Given the description of an element on the screen output the (x, y) to click on. 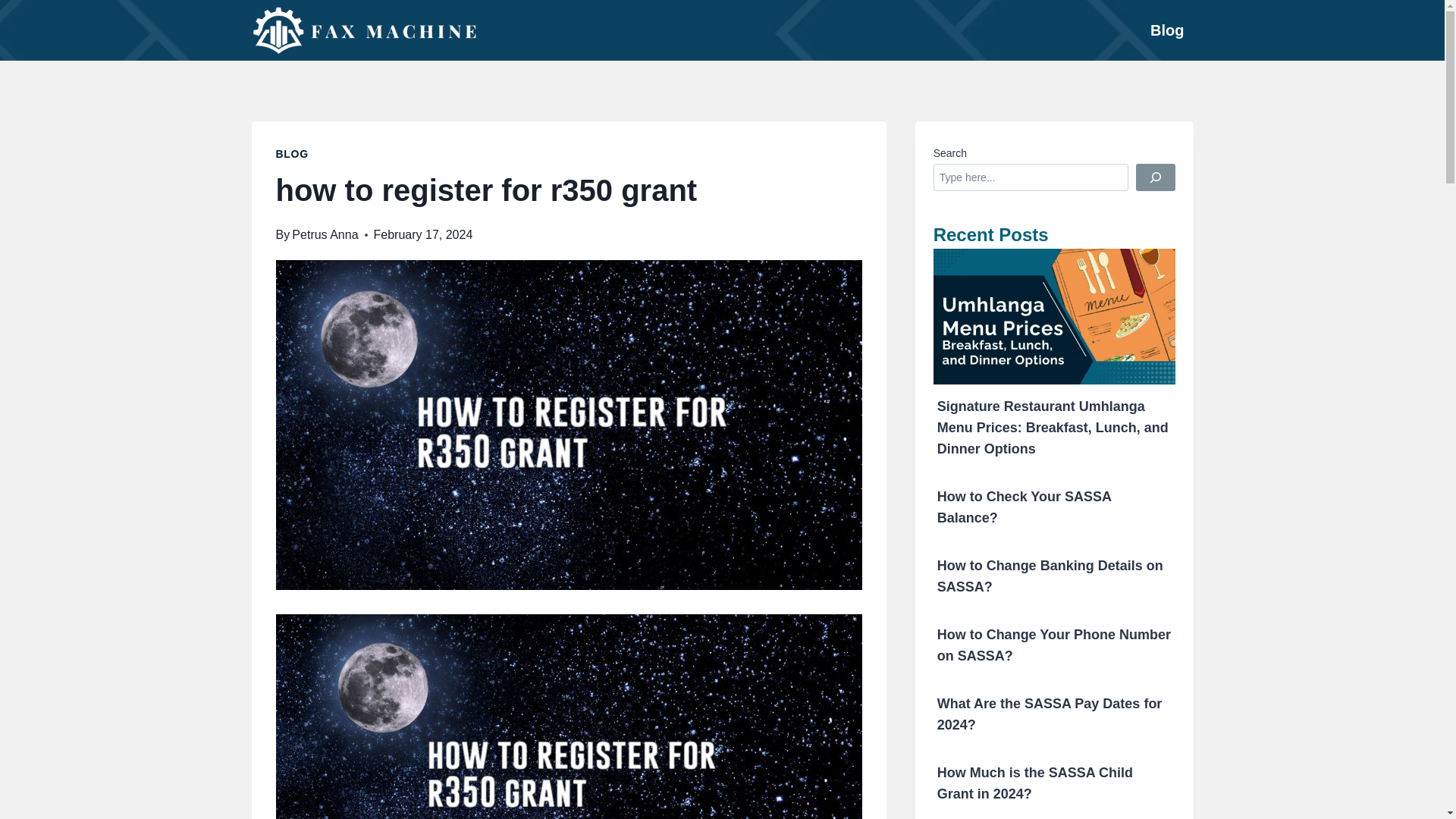
BLOG (292, 153)
Blog (1166, 30)
Petrus Anna (325, 234)
